Given the description of an element on the screen output the (x, y) to click on. 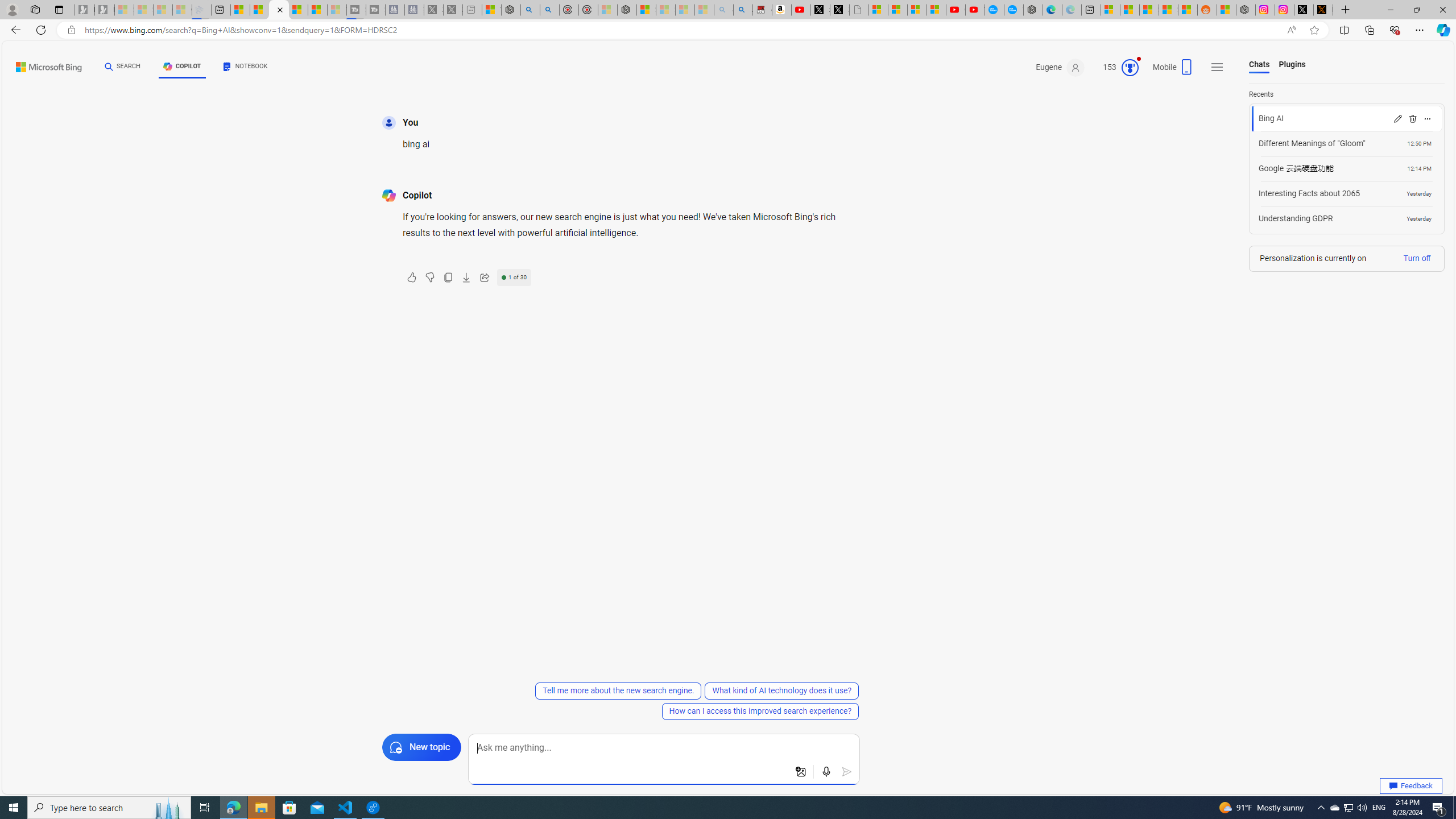
Back to Bing search (41, 64)
SEARCH (122, 66)
Amazon Echo Dot PNG - Search Images (742, 9)
Copy (448, 277)
